Given the description of an element on the screen output the (x, y) to click on. 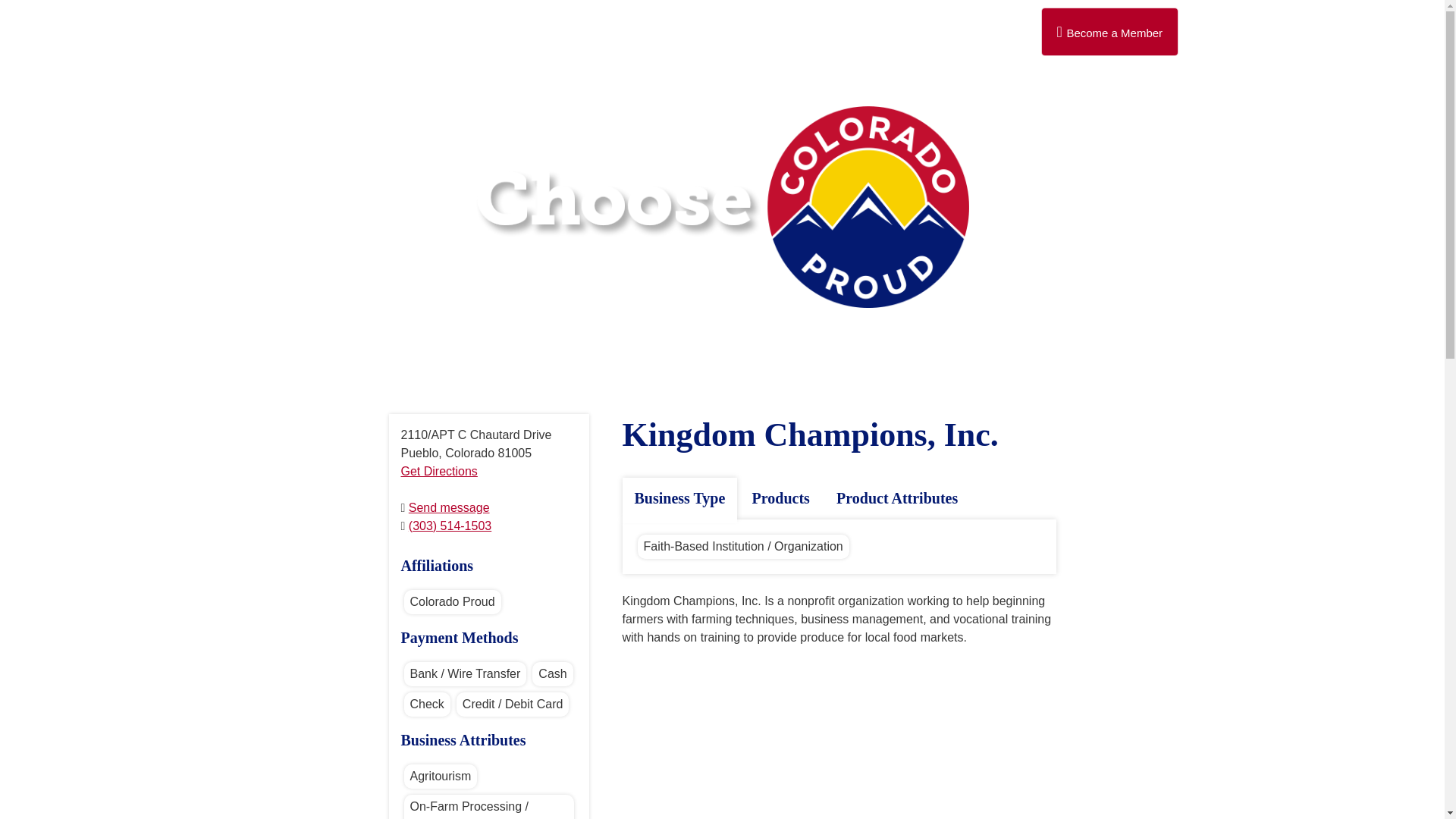
ABOUT US (580, 38)
Choose Colorado (722, 206)
Become a Member (1109, 31)
Get Directions (438, 471)
Send message (449, 507)
CONTACT US (821, 38)
RESOURCES (695, 38)
SEARCH (939, 38)
Sign-up (1109, 31)
HOME (487, 38)
